Given the description of an element on the screen output the (x, y) to click on. 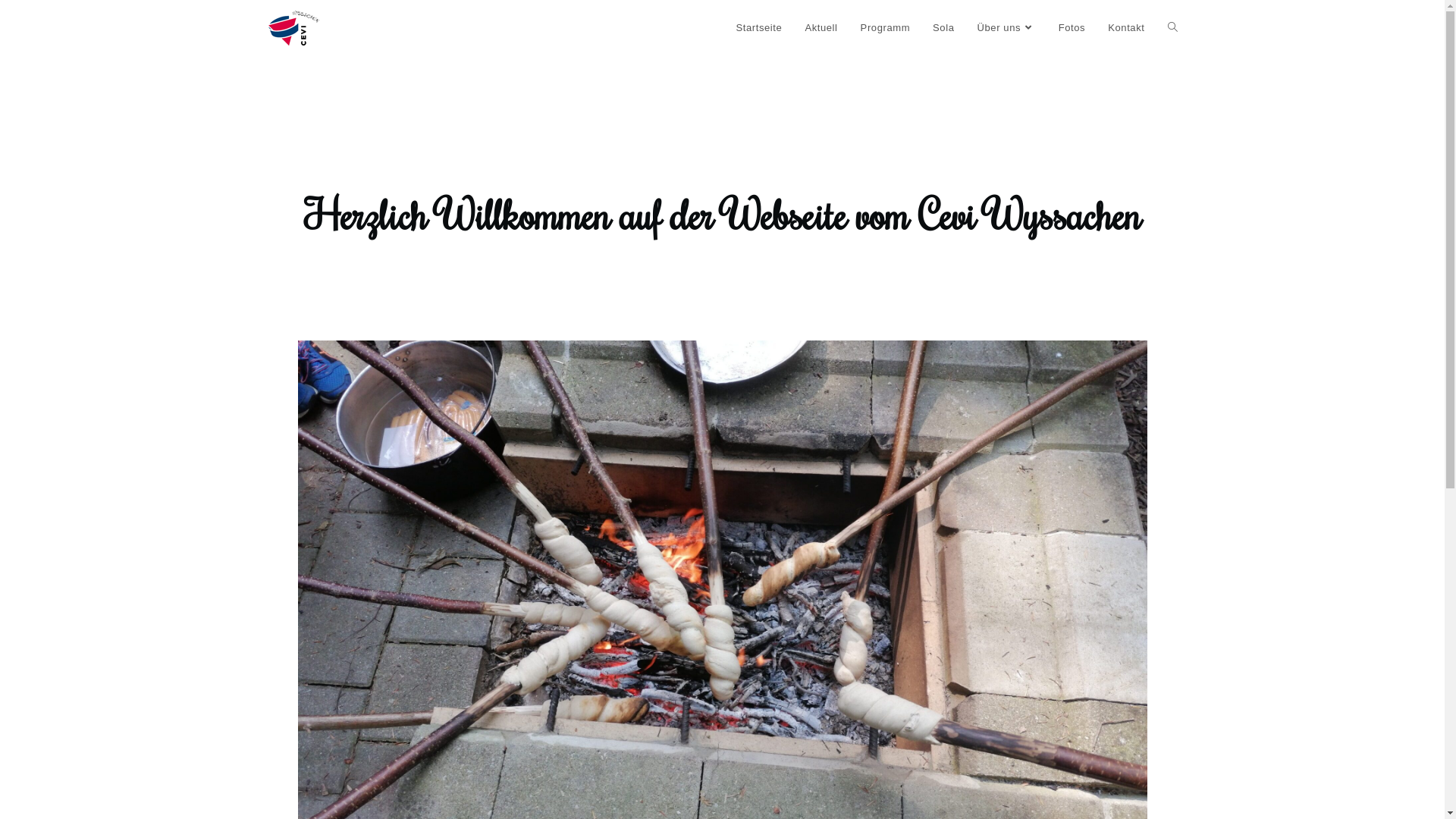
Sola Element type: text (943, 28)
Fotos Element type: text (1072, 28)
Kontakt Element type: text (1125, 28)
Programm Element type: text (885, 28)
Aktuell Element type: text (820, 28)
Startseite Element type: text (758, 28)
